Given the description of an element on the screen output the (x, y) to click on. 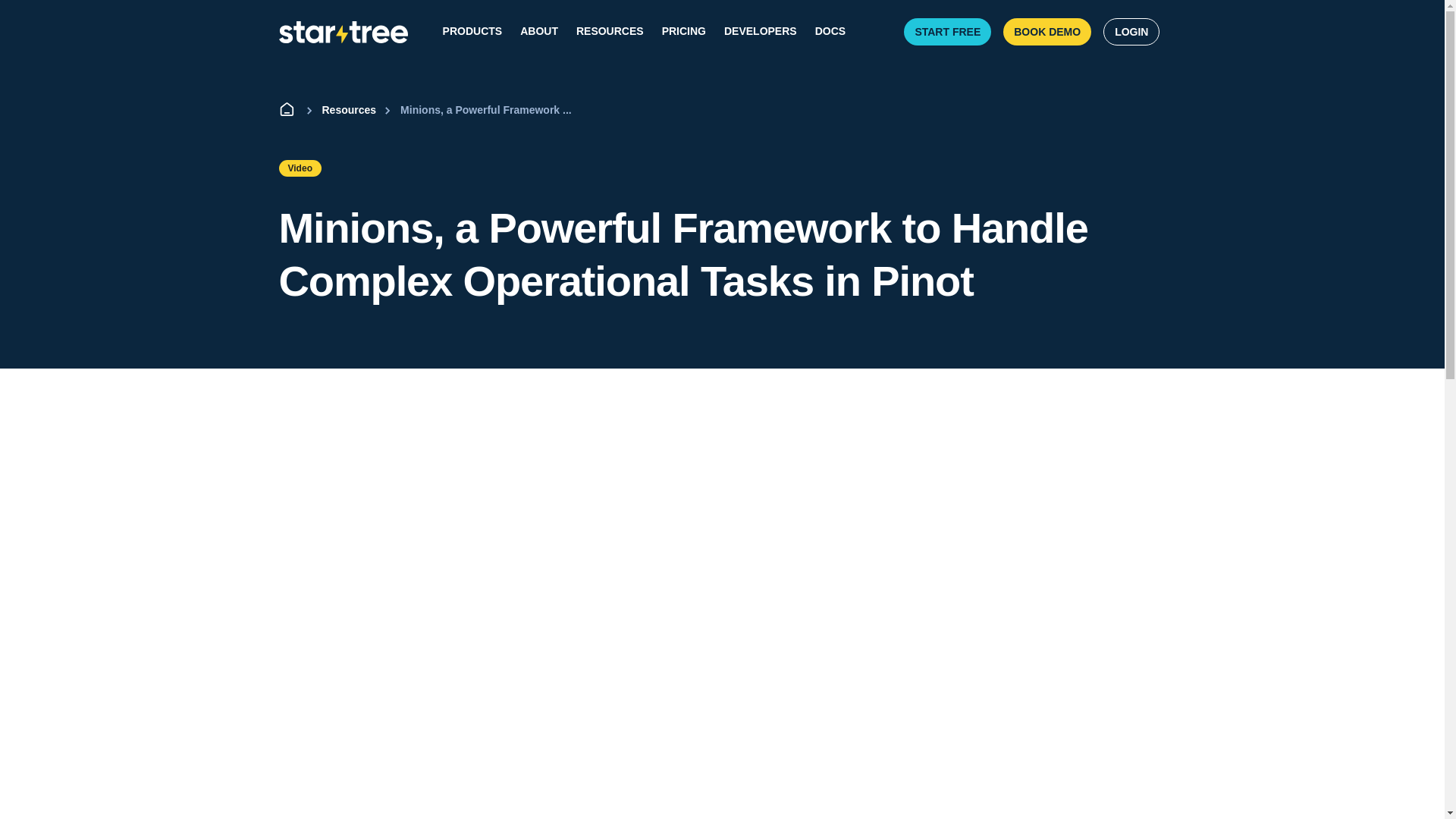
LOGIN (1130, 31)
PRICING (684, 32)
RESOURCES (609, 32)
DOCS (830, 32)
Resources (338, 109)
PRODUCTS (472, 32)
DEVELOPERS (759, 32)
BOOK DEMO (1046, 31)
Minions, a Powerful Framework ... (476, 109)
START FREE (947, 31)
